Given the description of an element on the screen output the (x, y) to click on. 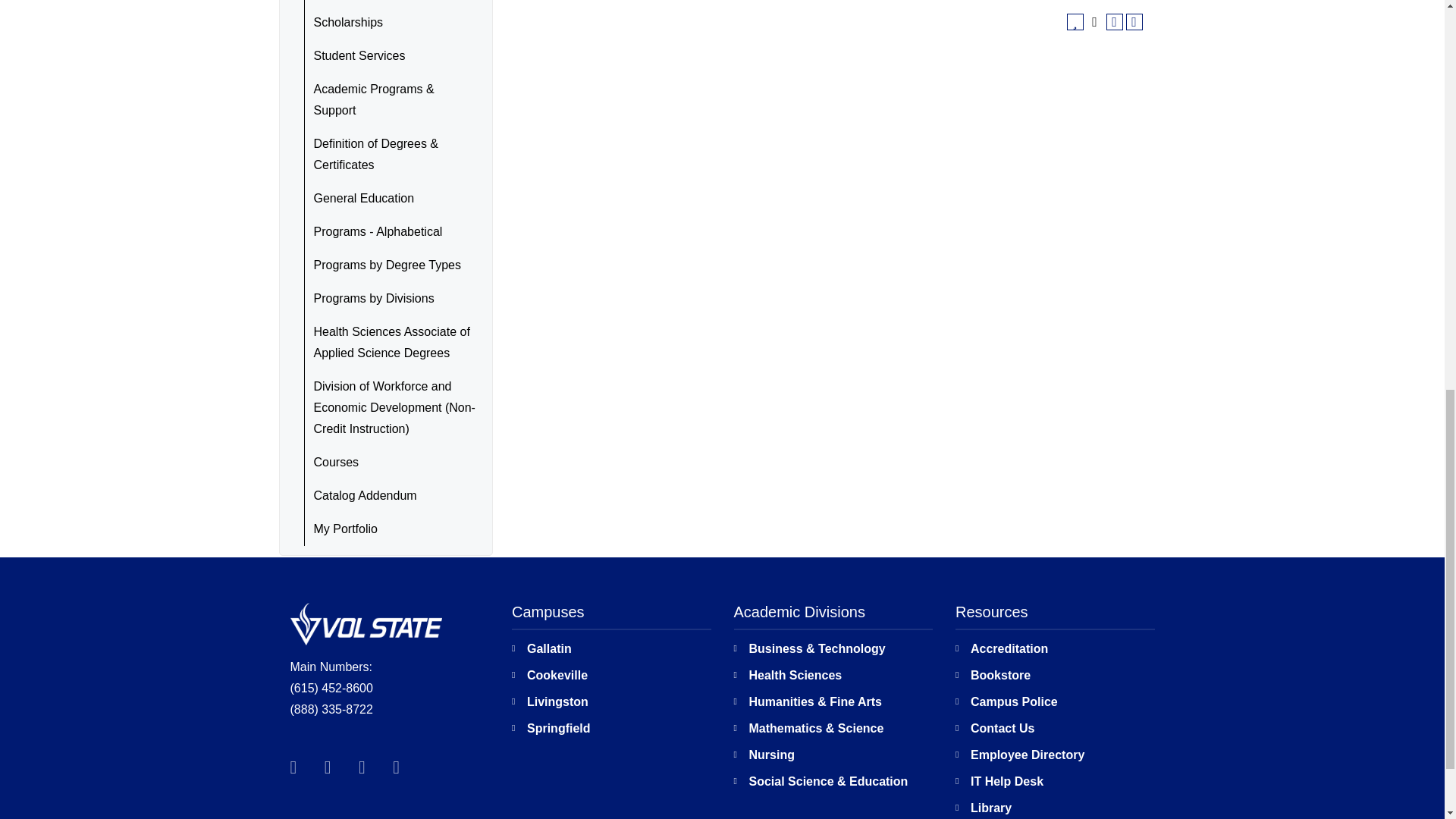
Programs - Alphabetical (389, 231)
Catalog Addendum (389, 495)
Programs by Degree Types (389, 264)
Programs by Divisions (389, 298)
Courses (389, 462)
College Graduation (389, 2)
Student Services (389, 55)
My Portfolio (389, 529)
Scholarships (389, 22)
General Education (389, 198)
Health Sciences Associate of Applied Science Degrees (389, 342)
